Given the description of an element on the screen output the (x, y) to click on. 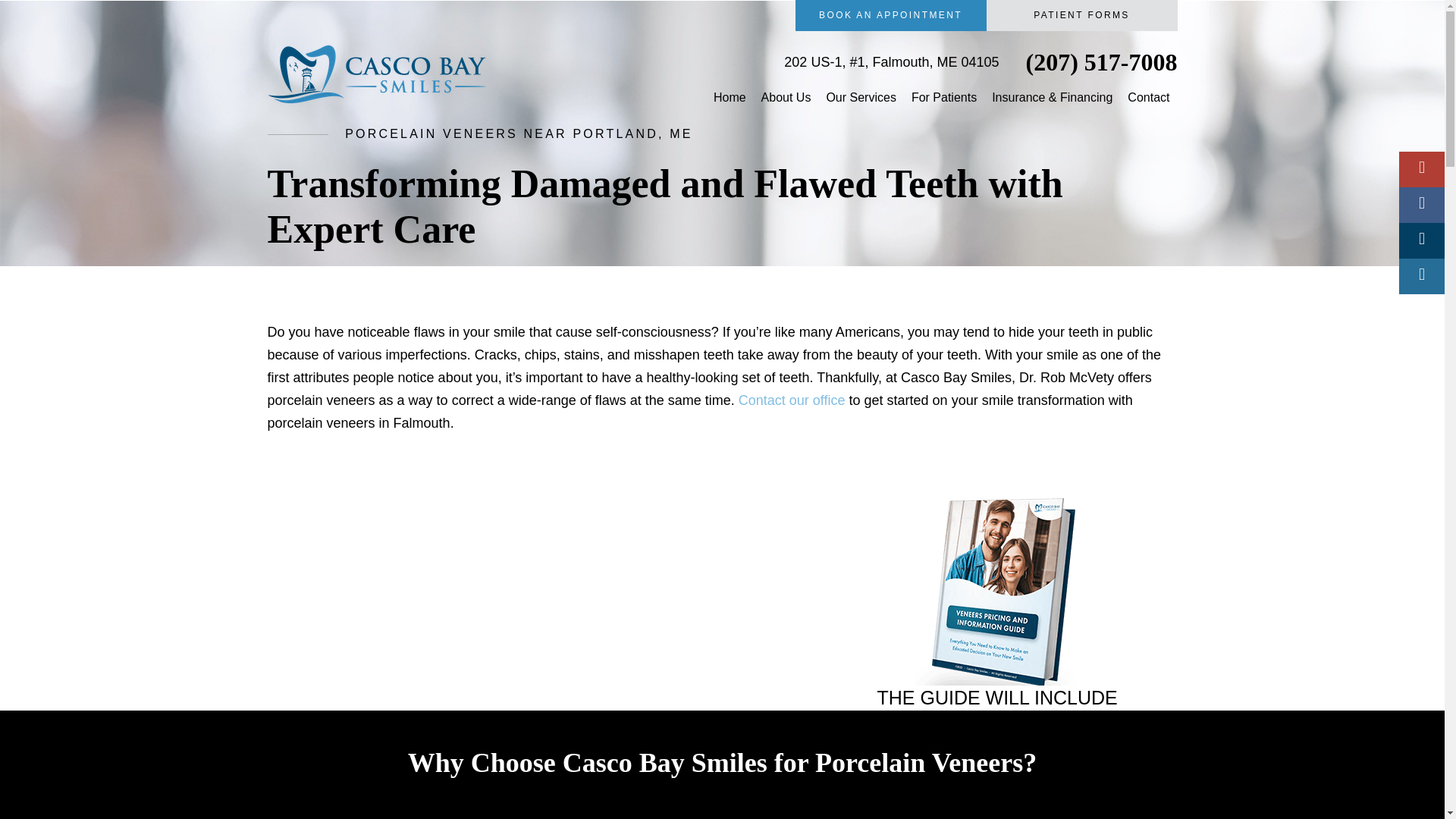
BOOK AN APPOINTMENT (889, 15)
Our Services (860, 97)
PATIENT FORMS (1080, 15)
About Us (786, 97)
Dental Services (860, 97)
Casco Bay Smiles (730, 97)
About Us (786, 97)
Home (730, 97)
